Given the description of an element on the screen output the (x, y) to click on. 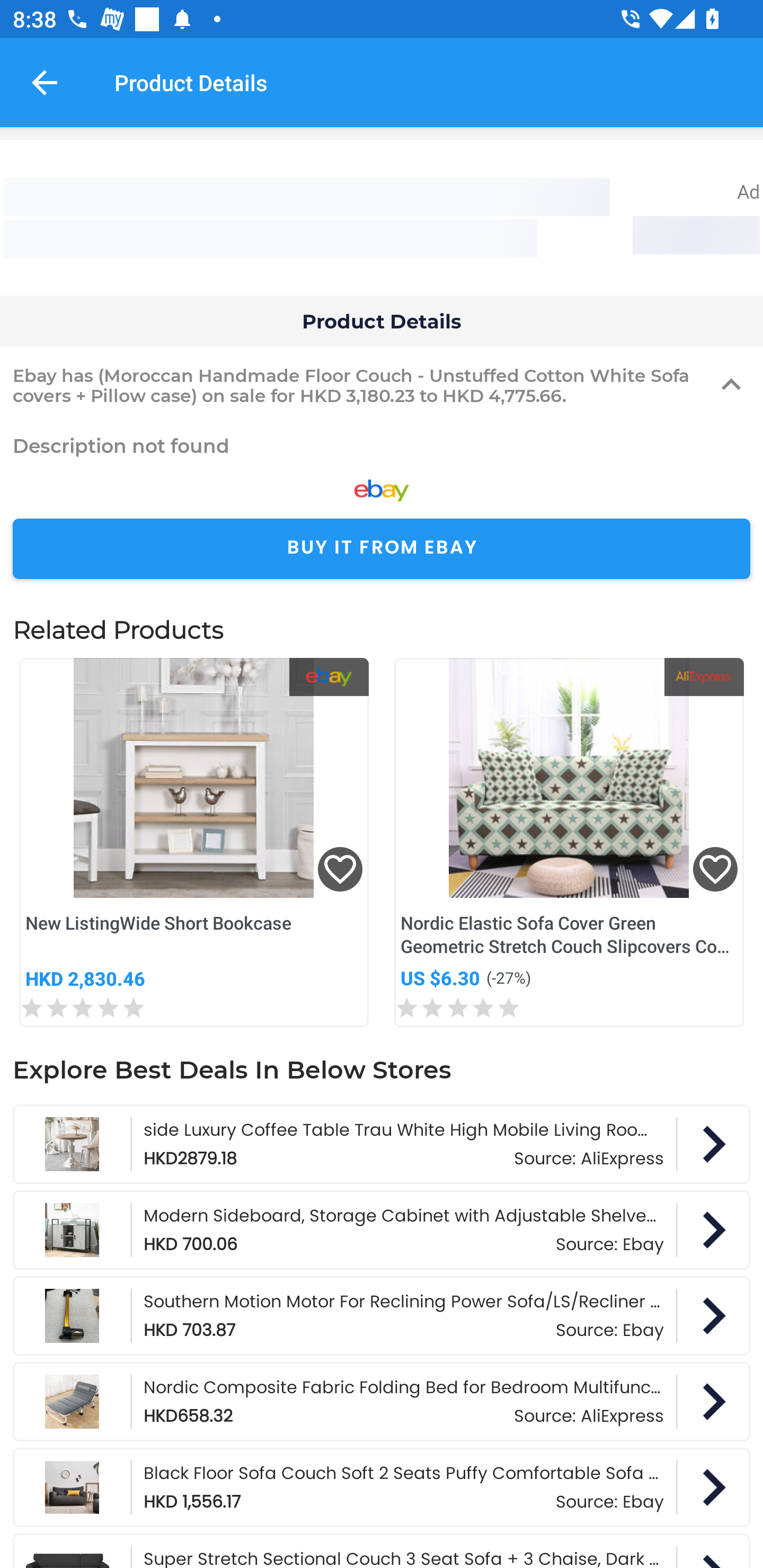
Navigate up (44, 82)
Description not found (381, 444)
BUY IT FROM EBAY (381, 548)
New ListingWide Short Bookcase HKD 2,830.46 0.0 (193, 842)
